Given the description of an element on the screen output the (x, y) to click on. 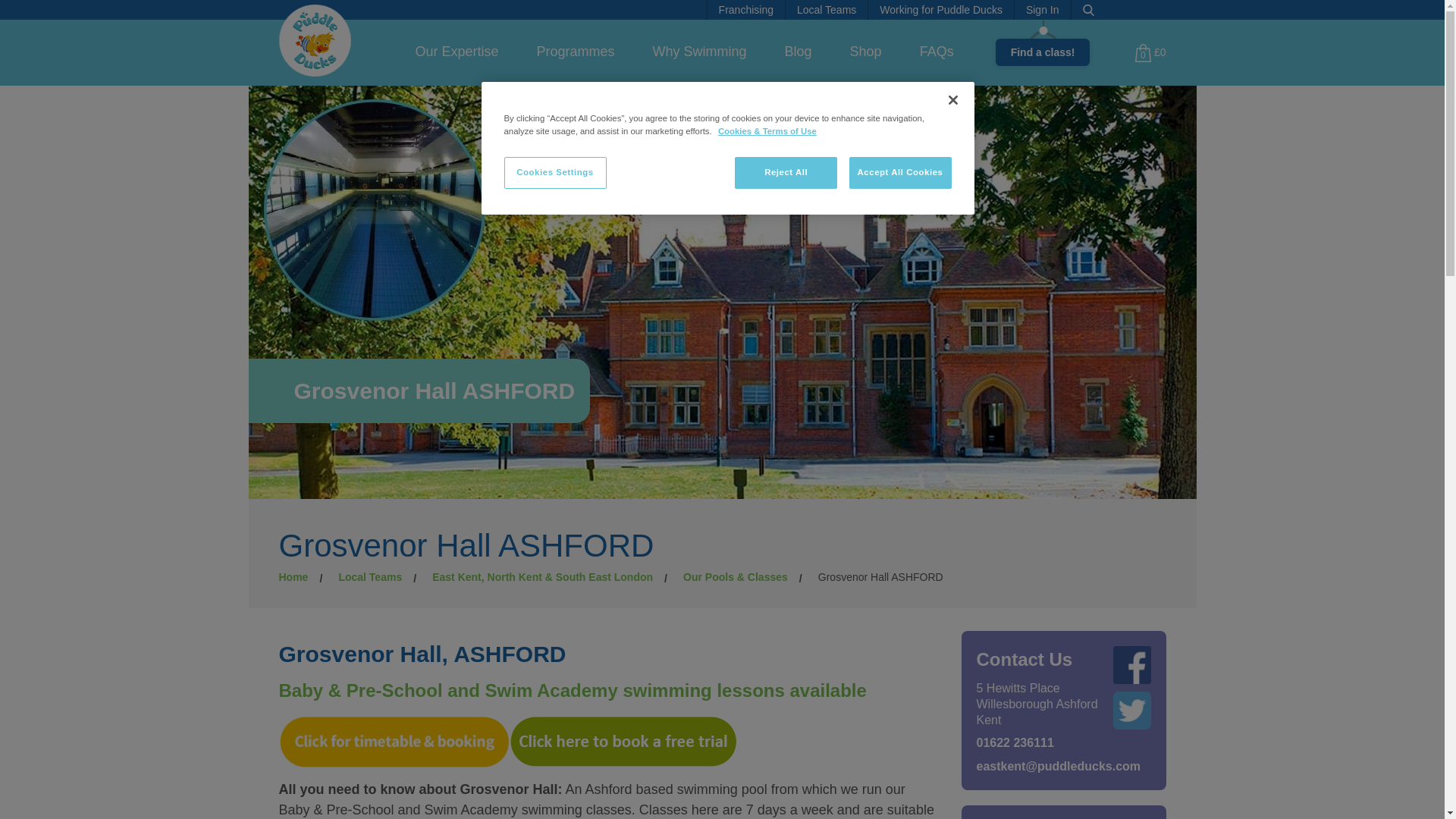
Blog (798, 51)
Home (314, 39)
Local Teams (826, 9)
Franchising (745, 9)
Programmes (575, 51)
Visit us on Twitter (1132, 710)
Working for Puddle Ducks (940, 9)
Sign In (1042, 9)
Visit us on Facebook (1132, 664)
Free Trial Lesson (622, 740)
Our Expertise (455, 51)
Why Swimming (699, 51)
